Given the description of an element on the screen output the (x, y) to click on. 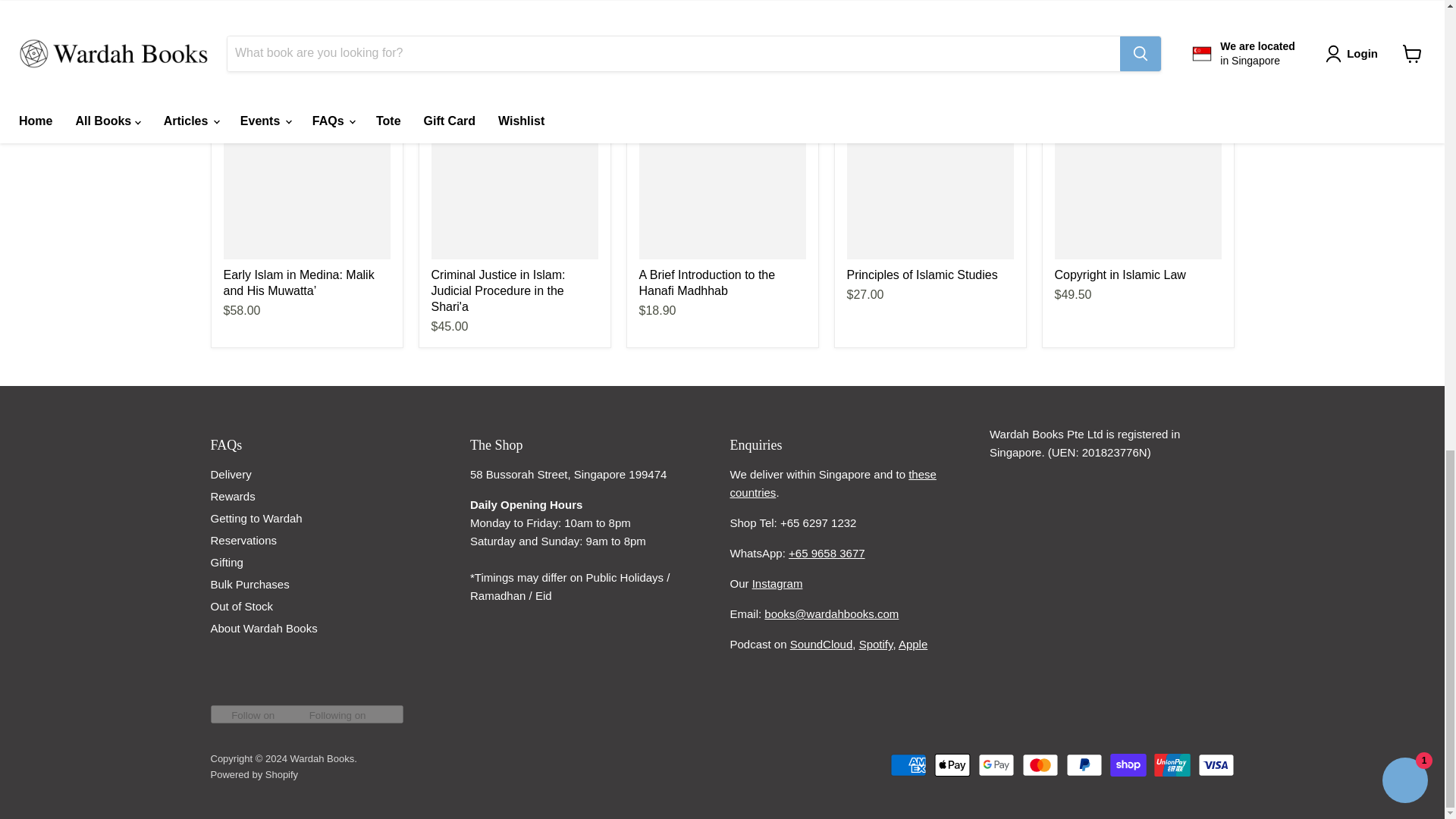
Apple Pay (952, 764)
Union Pay (1172, 764)
PayPal (1083, 764)
Google Pay (996, 764)
Shop Pay (1128, 764)
American Express (907, 764)
Mastercard (1040, 764)
